Given the description of an element on the screen output the (x, y) to click on. 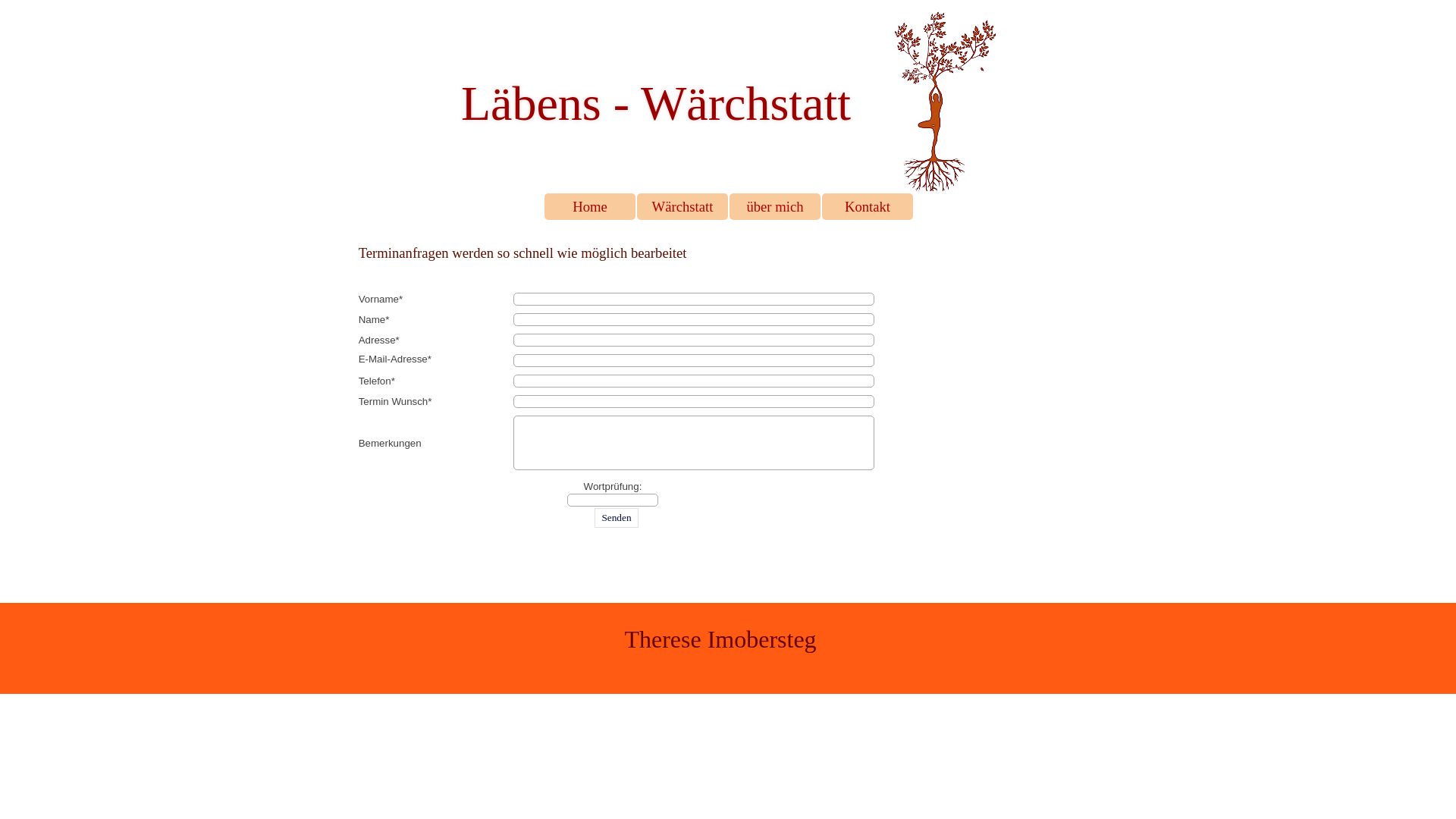
Kontakt Element type: text (867, 206)
Senden Element type: text (615, 517)
Home Element type: text (589, 206)
